Given the description of an element on the screen output the (x, y) to click on. 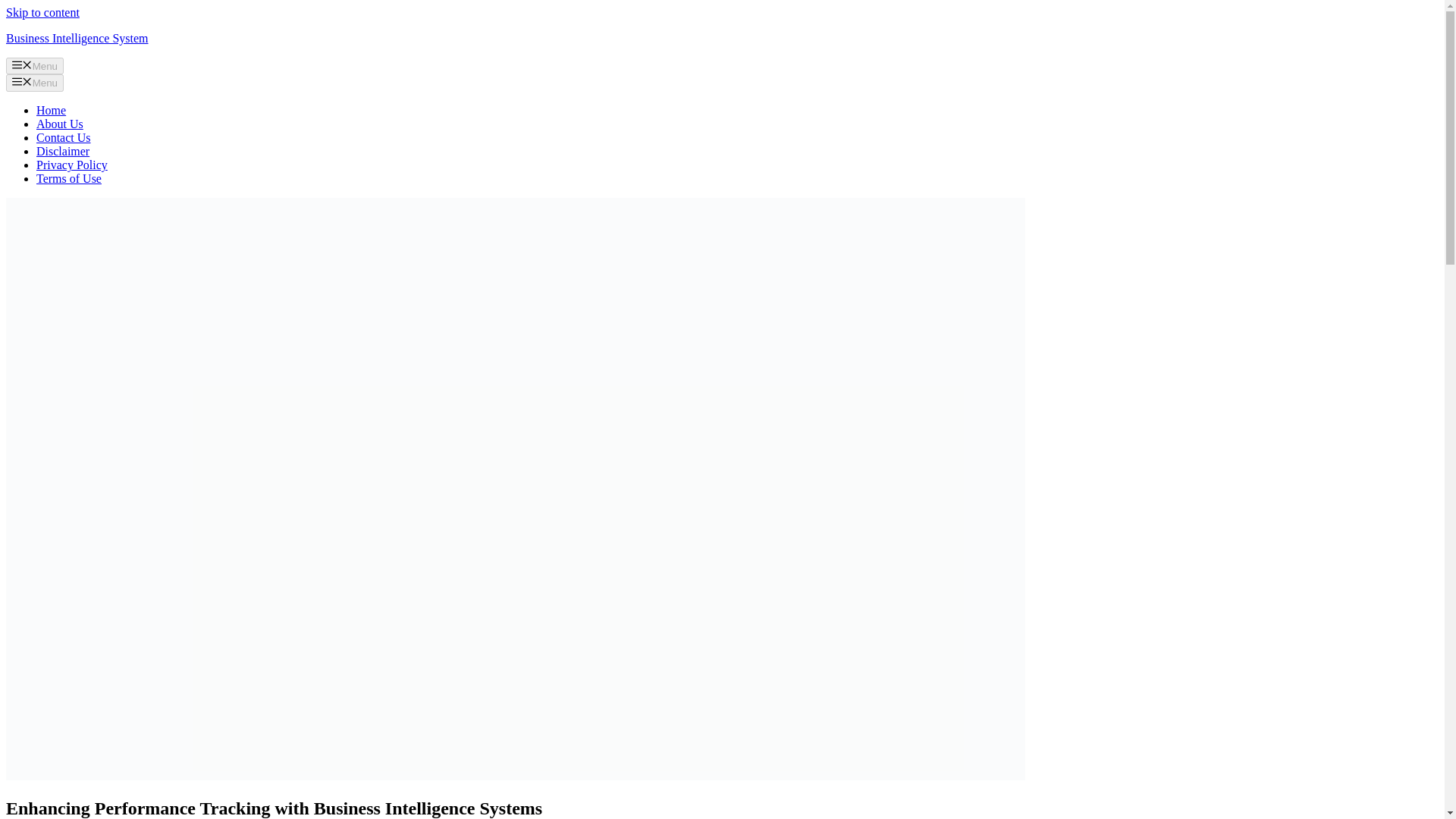
About Us (59, 123)
Contact Us (63, 137)
Skip to content (42, 11)
Business Intelligence System (76, 38)
Disclaimer (62, 151)
Privacy Policy (71, 164)
Menu (34, 65)
Home (50, 110)
Terms of Use (68, 178)
Skip to content (42, 11)
Menu (34, 82)
